Given the description of an element on the screen output the (x, y) to click on. 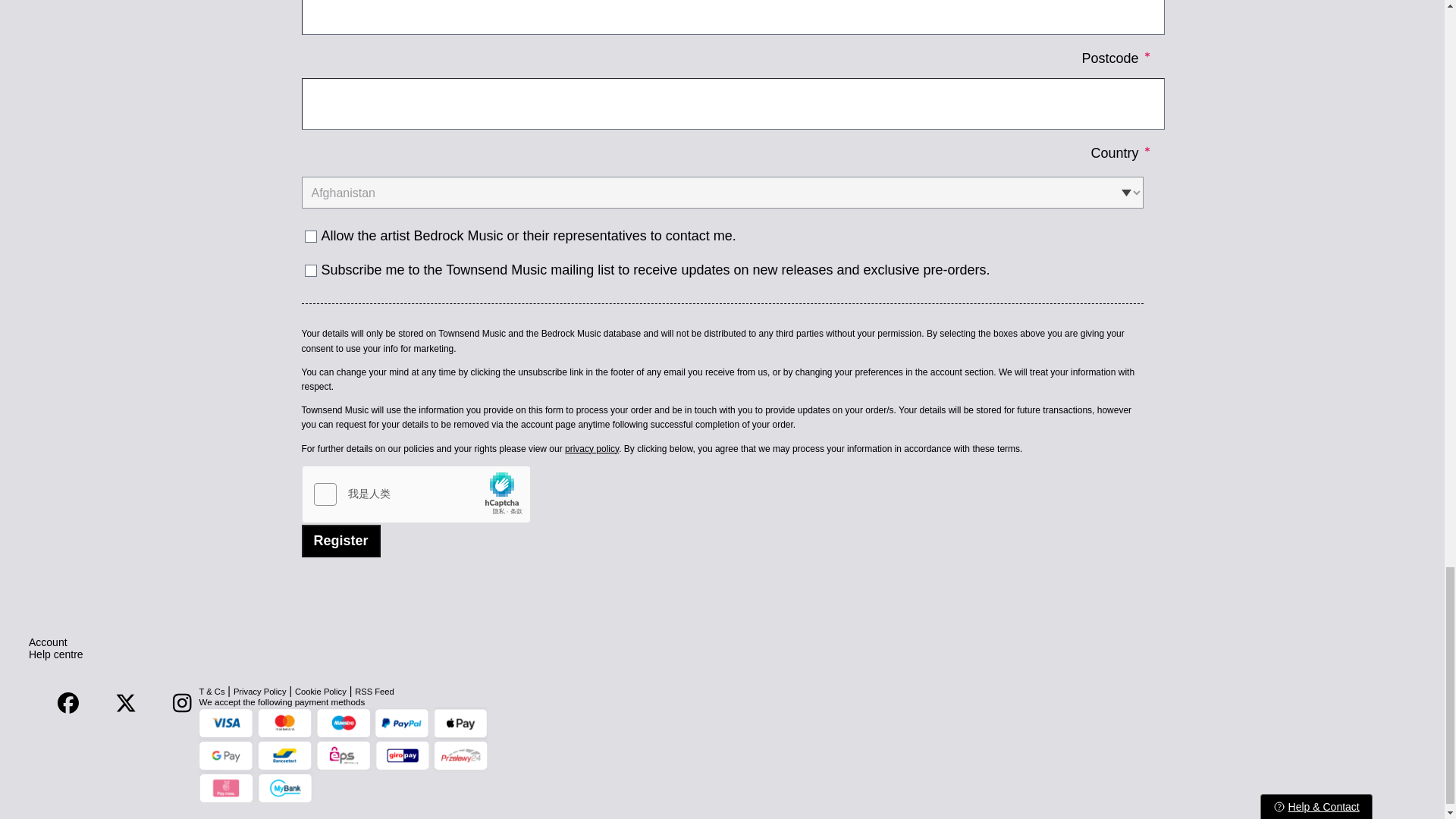
on (310, 236)
on (310, 270)
Required (1147, 149)
Required (1147, 54)
